Given the description of an element on the screen output the (x, y) to click on. 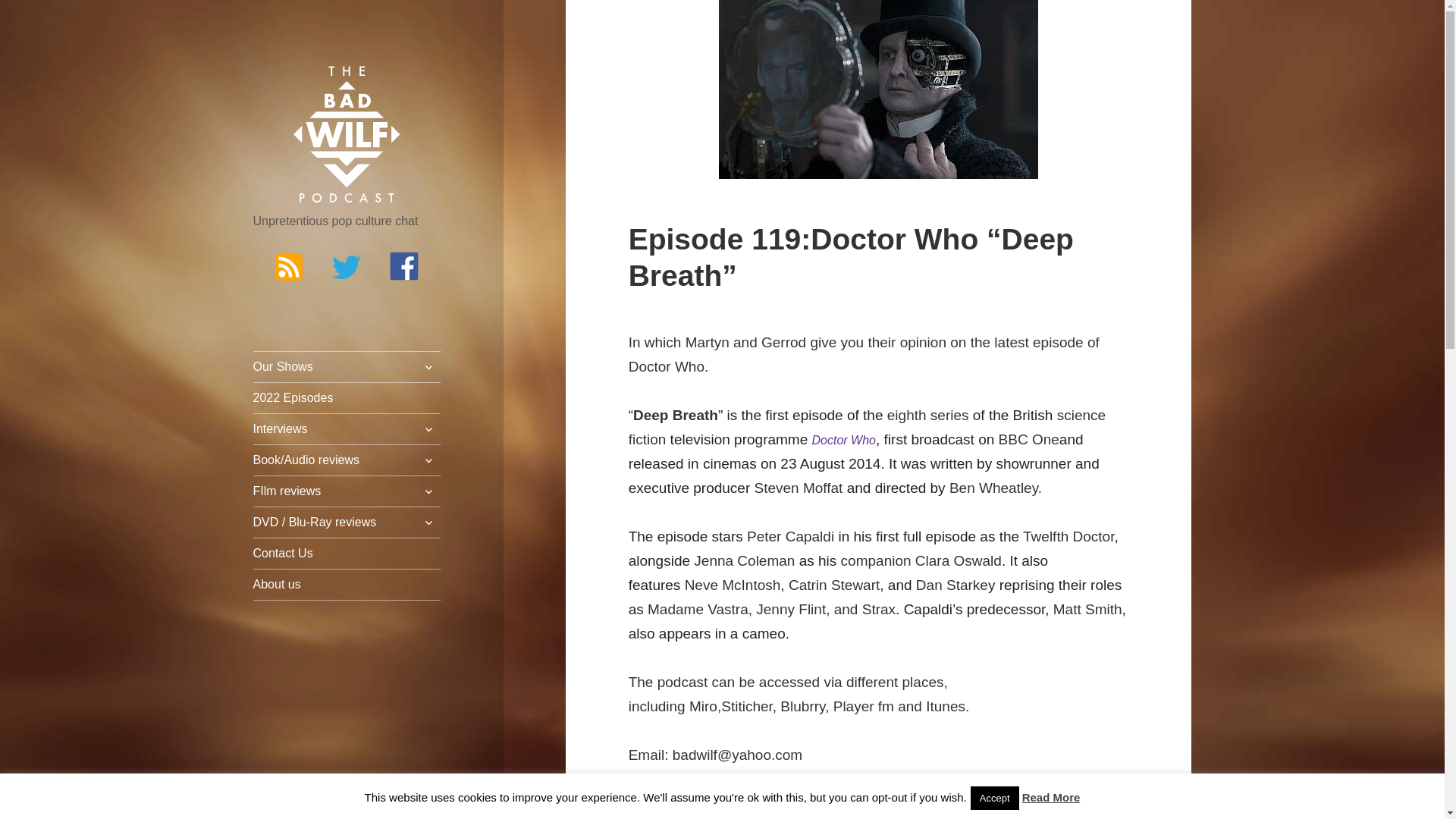
Clara Oswald (958, 560)
The Bad Wilf Network (347, 134)
Subscribe to the Podcast (288, 265)
Neve McIntosh (732, 584)
Peter Capaldi (790, 536)
BBC One (1028, 439)
Bad Wilf Facebook Page (404, 265)
Twelfth Doctor (1068, 536)
Science fiction (866, 427)
Steven Moffat (798, 487)
Jenna Coleman (744, 560)
expand child menu (428, 428)
Interviews (347, 429)
Catrin Stewart (834, 584)
expand child menu (428, 366)
